Given the description of an element on the screen output the (x, y) to click on. 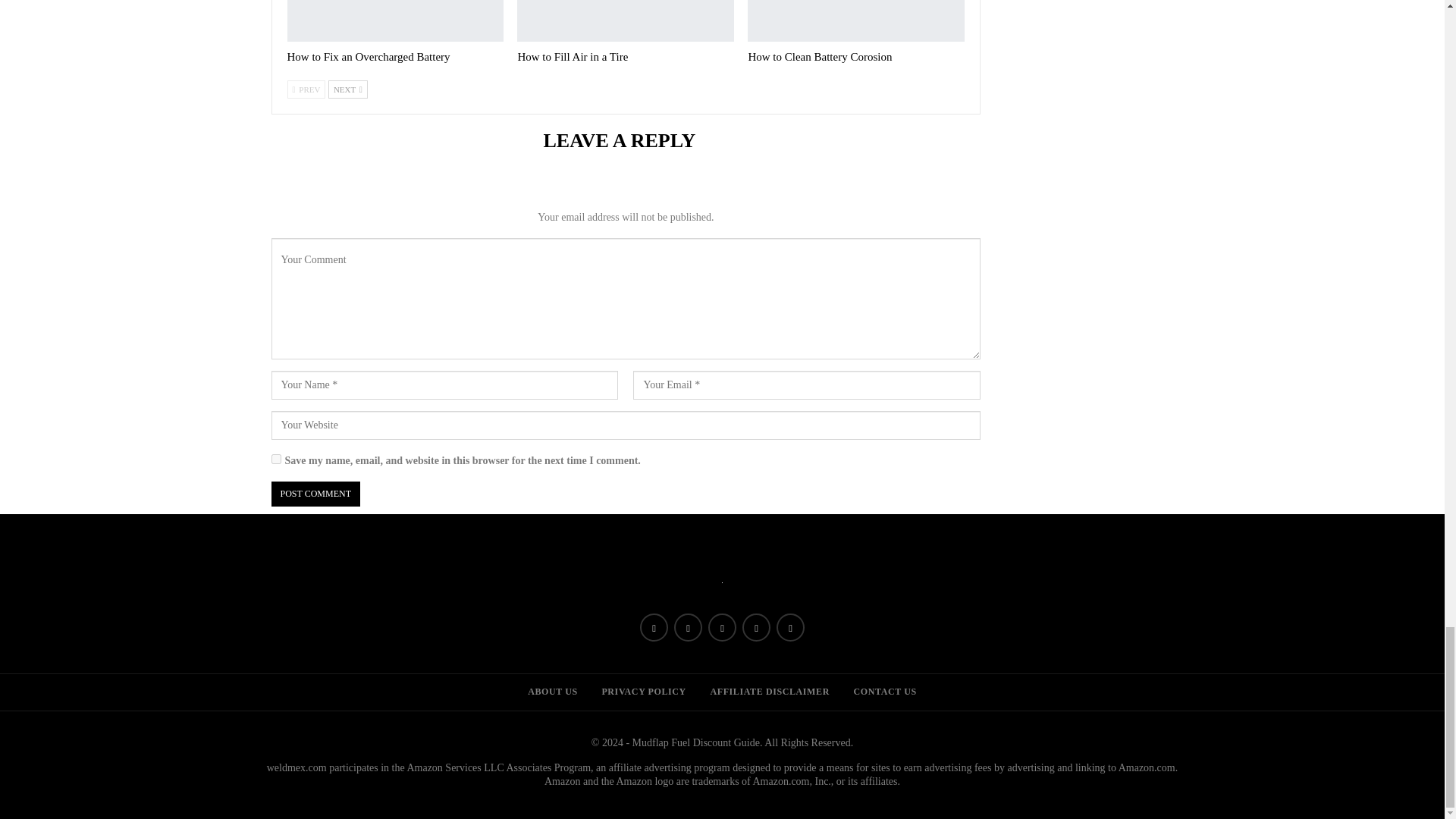
How to Fix an Overcharged Battery (394, 20)
How to Clean Battery Corosion (855, 20)
How to Fill Air in a Tire (624, 20)
How to Fill Air in a Tire (571, 56)
Post Comment (314, 493)
How to Fix an Overcharged Battery (367, 56)
How to Clean Battery Corosion (819, 56)
yes (275, 459)
